Given the description of an element on the screen output the (x, y) to click on. 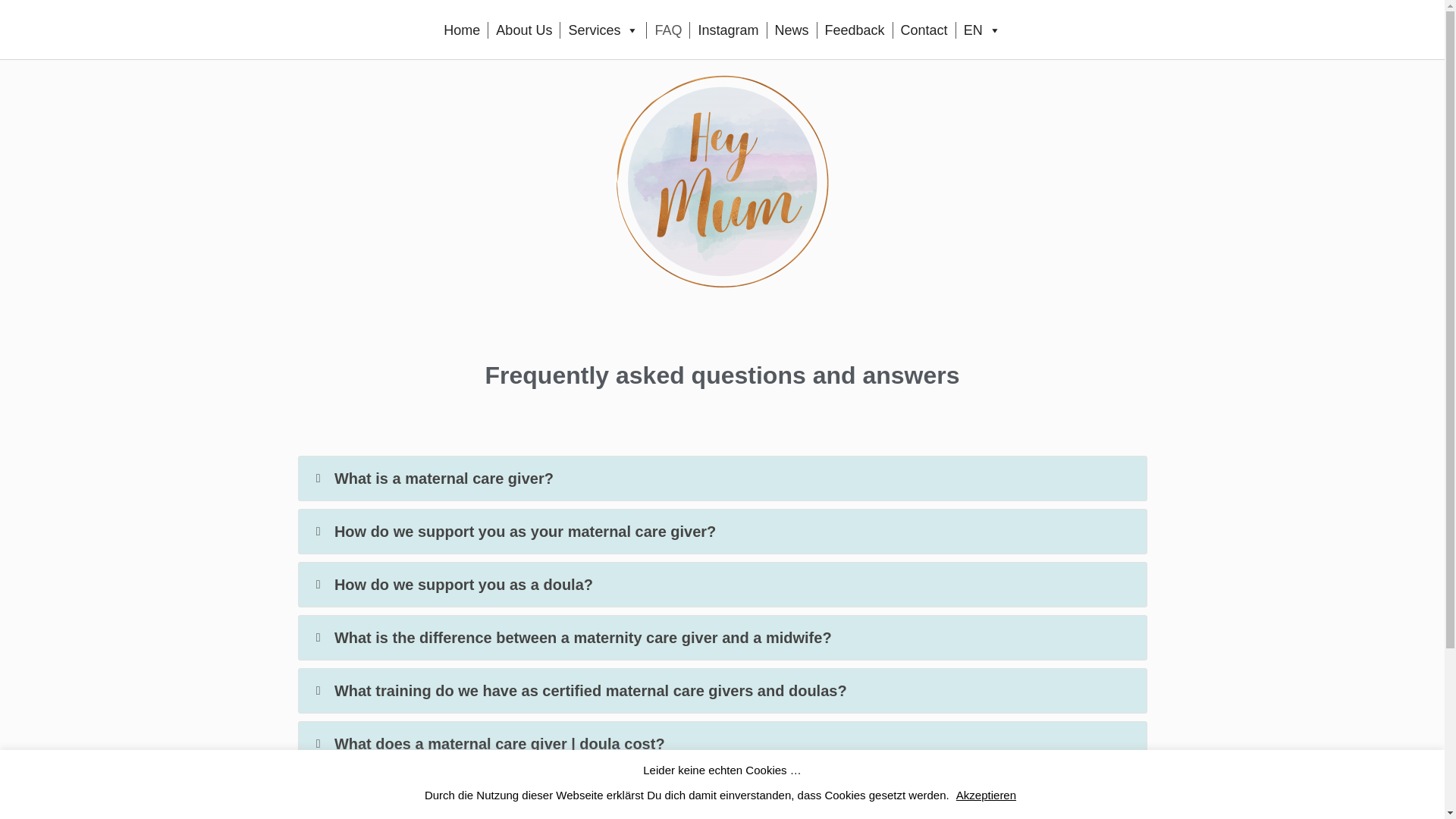
About Us (523, 30)
Akzeptieren (986, 794)
What is a maternal care giver? (722, 569)
Instagram (727, 30)
Home (461, 30)
Services (603, 30)
FAQ (667, 30)
